Given the description of an element on the screen output the (x, y) to click on. 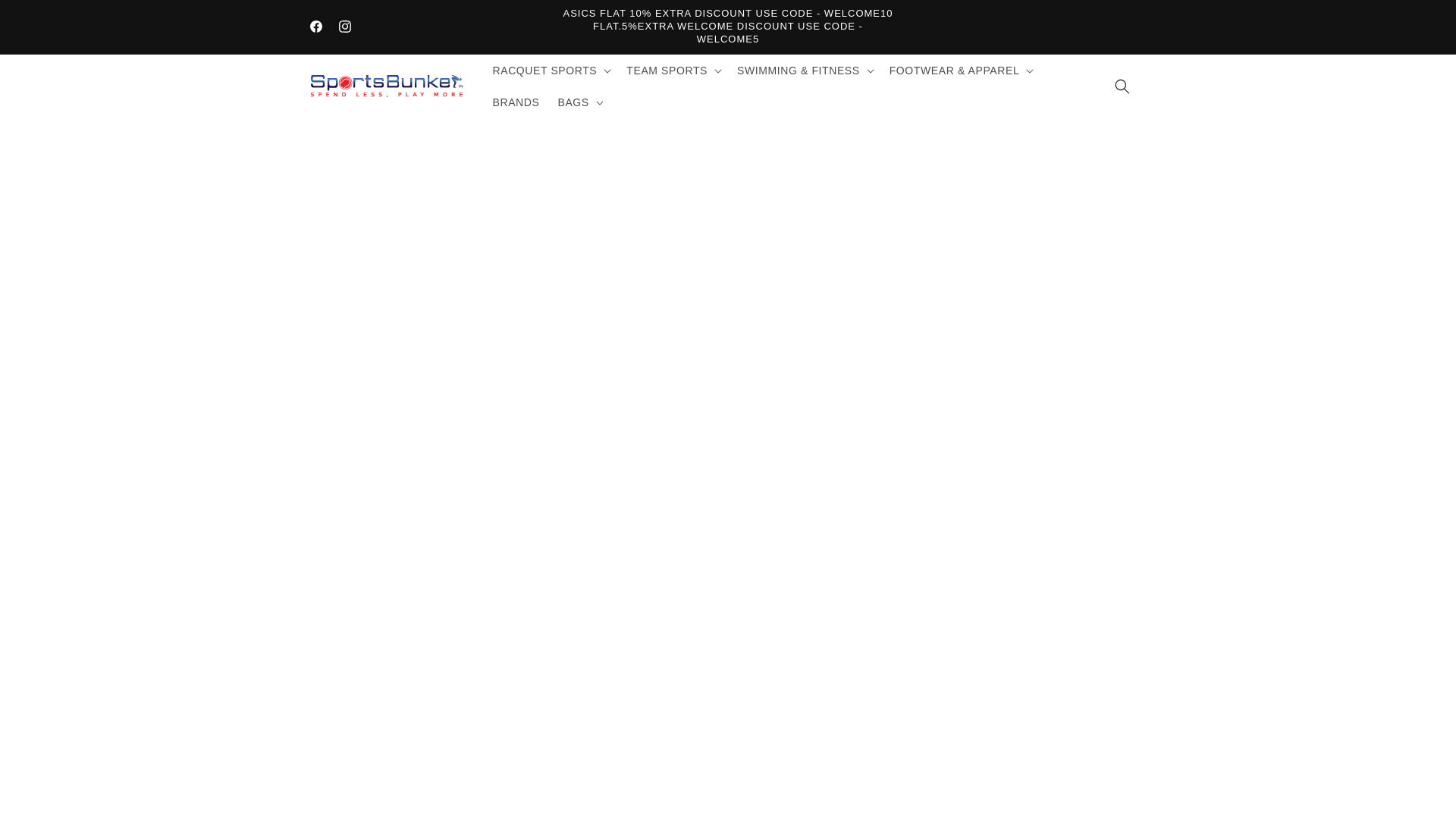
Skip to content (45, 16)
Facebook (315, 26)
Instagram (344, 26)
